Given the description of an element on the screen output the (x, y) to click on. 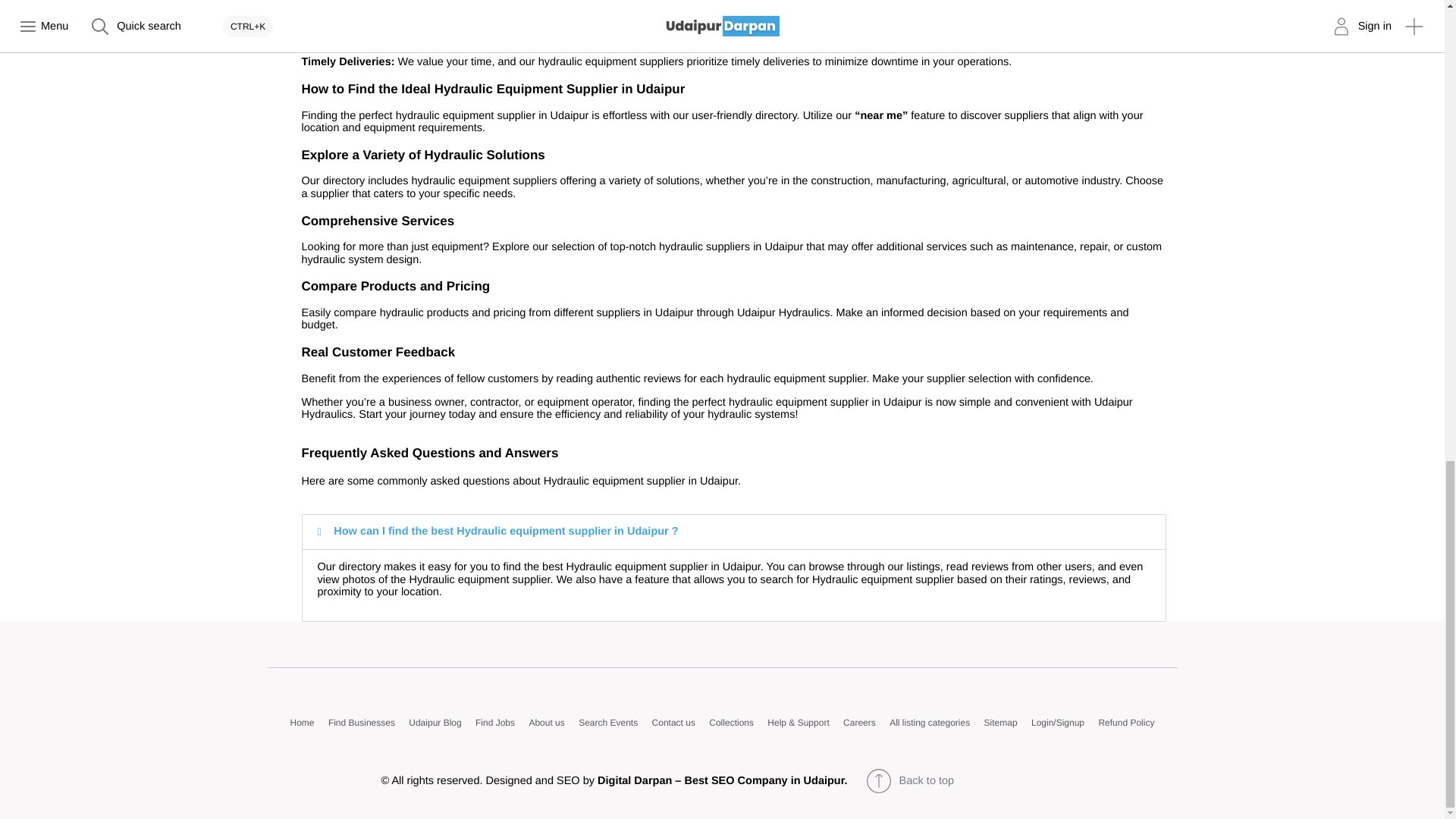
Contact us (673, 722)
Find Jobs (495, 722)
Home (301, 722)
Udaipur Blog (435, 722)
Find Businesses (361, 722)
Search Events (607, 722)
About us (546, 722)
